Given the description of an element on the screen output the (x, y) to click on. 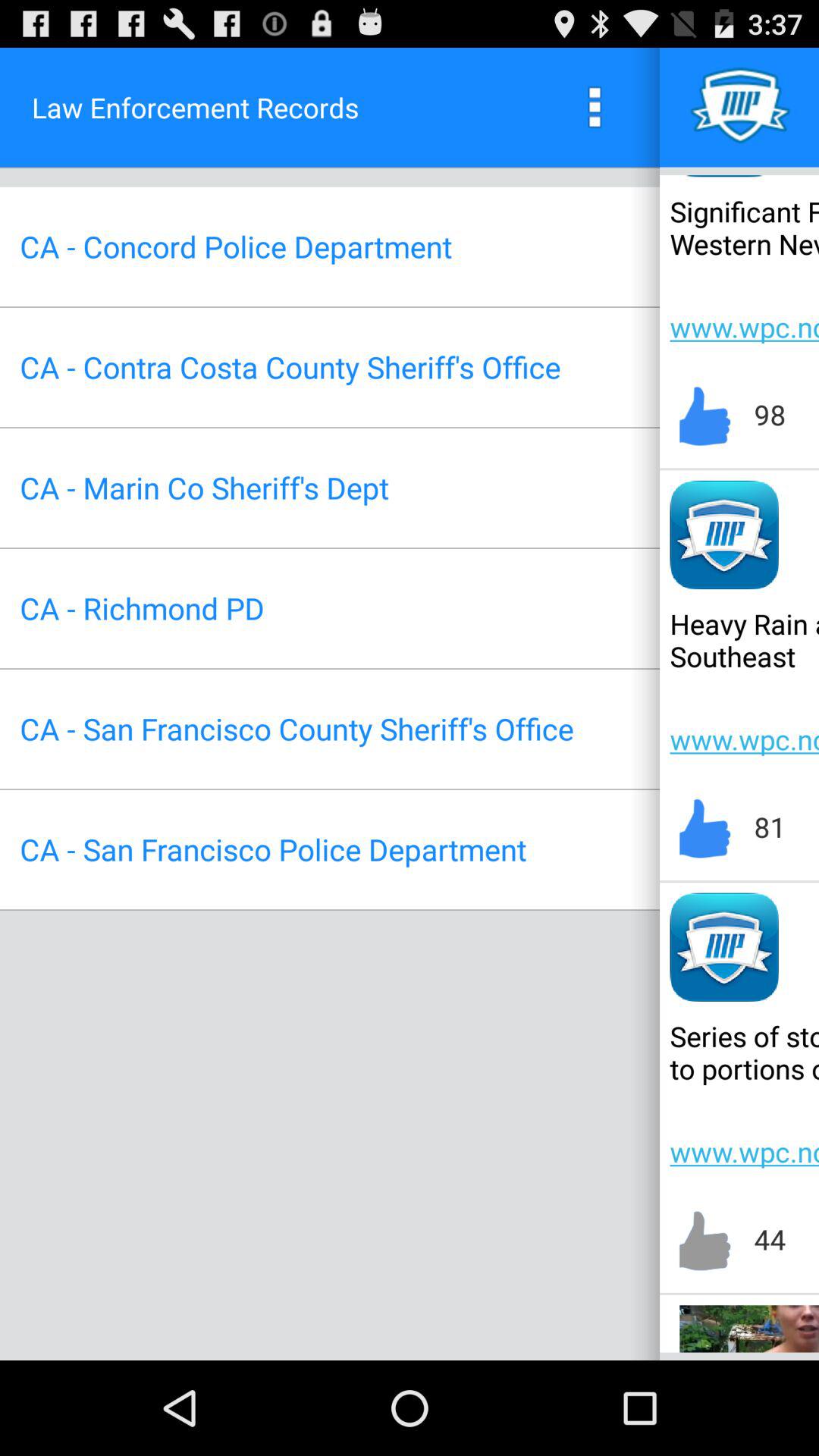
choose the app above the ca marin co item (289, 366)
